Given the description of an element on the screen output the (x, y) to click on. 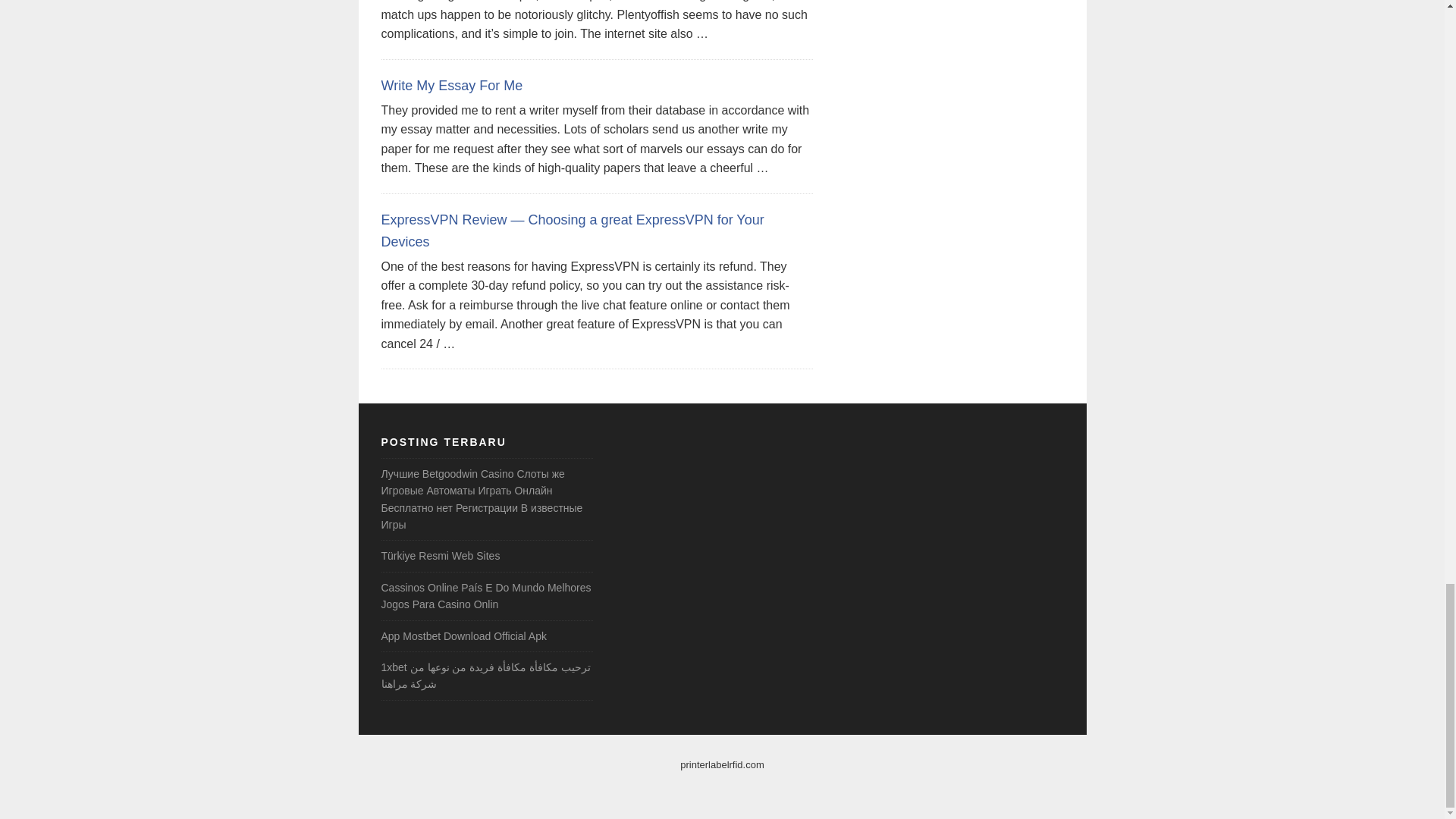
Write My Essay For Me (451, 85)
App Mostbet Download Official Apk (463, 635)
